Given the description of an element on the screen output the (x, y) to click on. 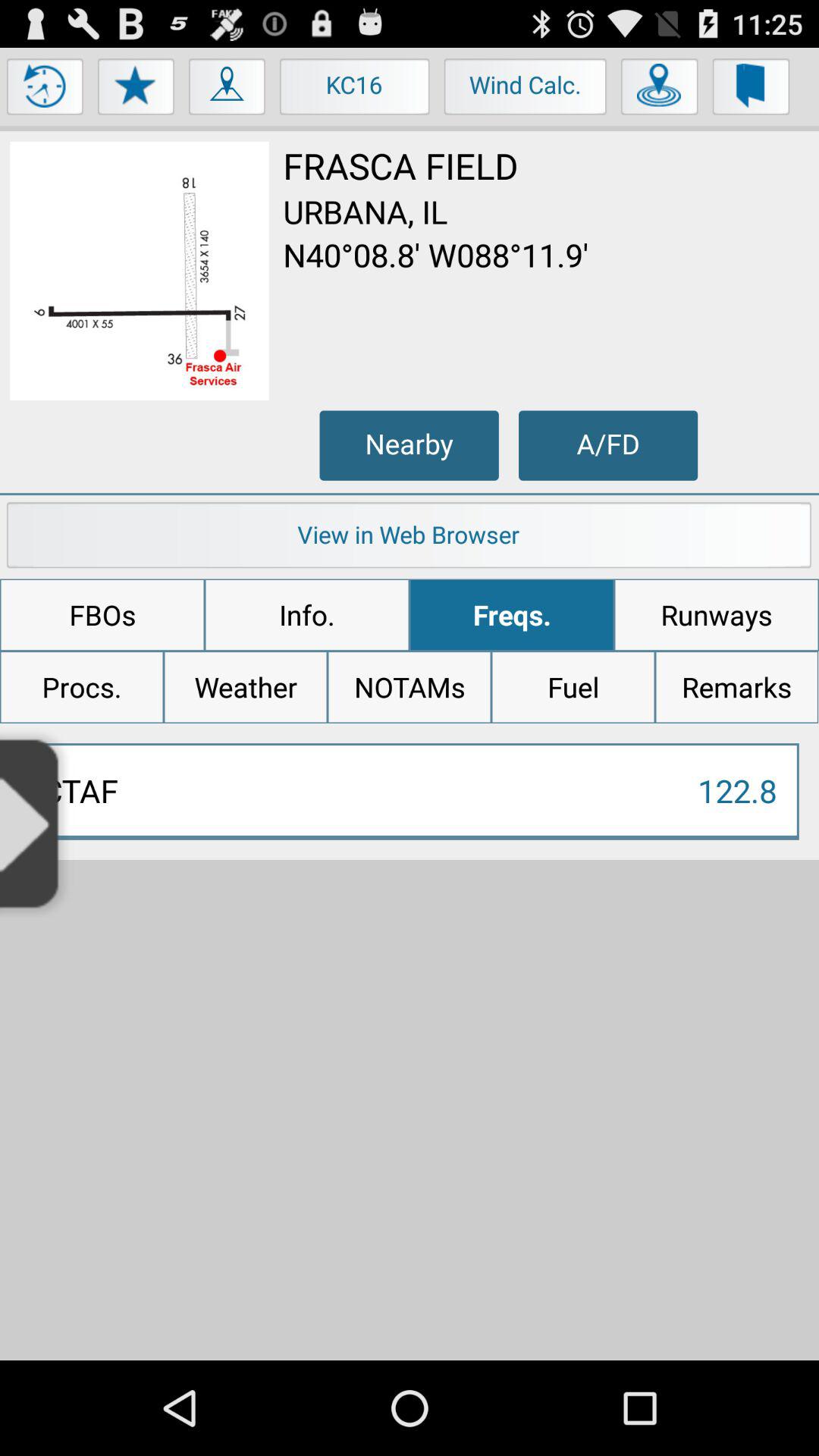
calculate time (45, 90)
